Given the description of an element on the screen output the (x, y) to click on. 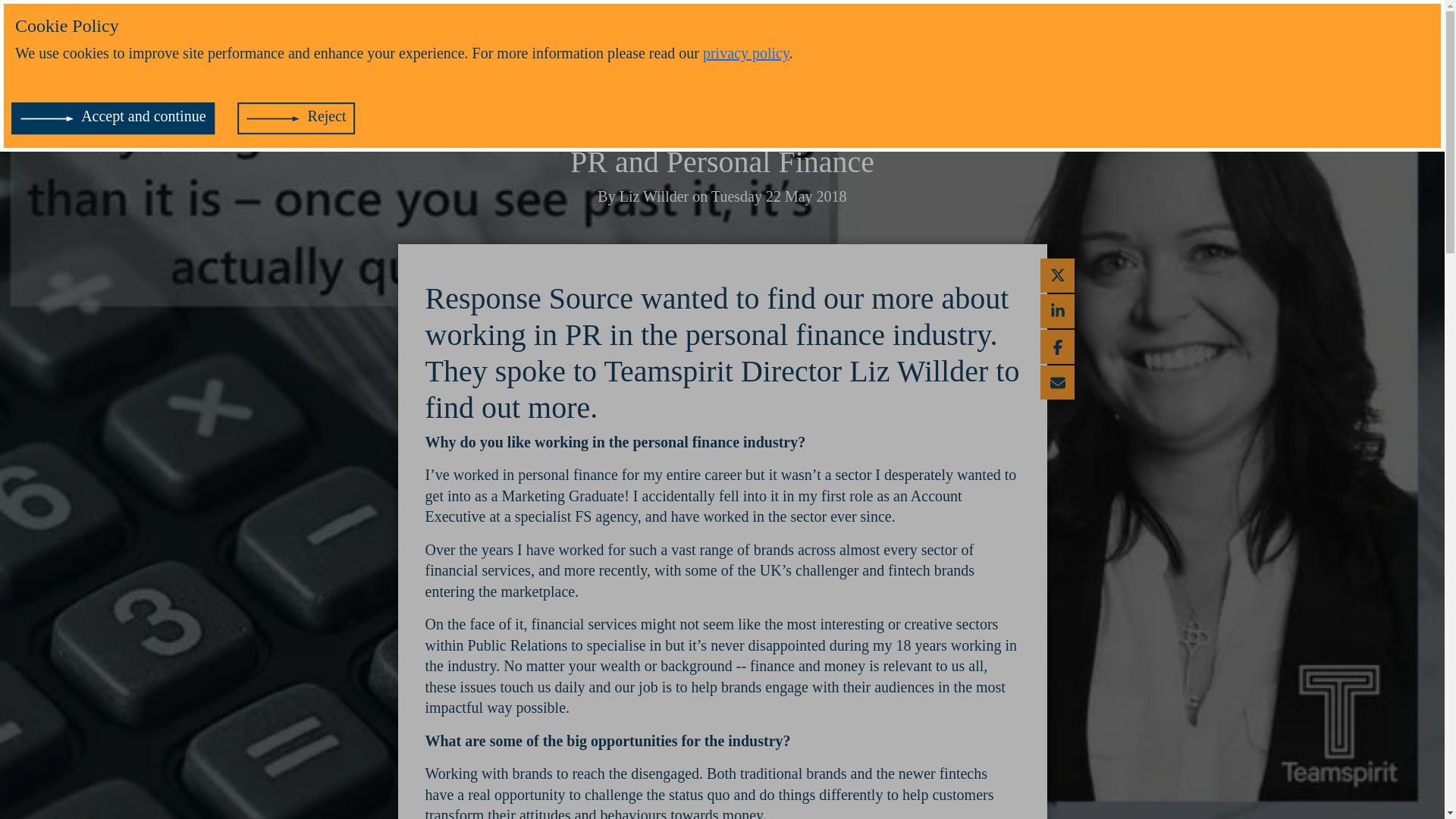
Accept and continue (112, 118)
privacy policy (746, 53)
Reject (296, 118)
